Given the description of an element on the screen output the (x, y) to click on. 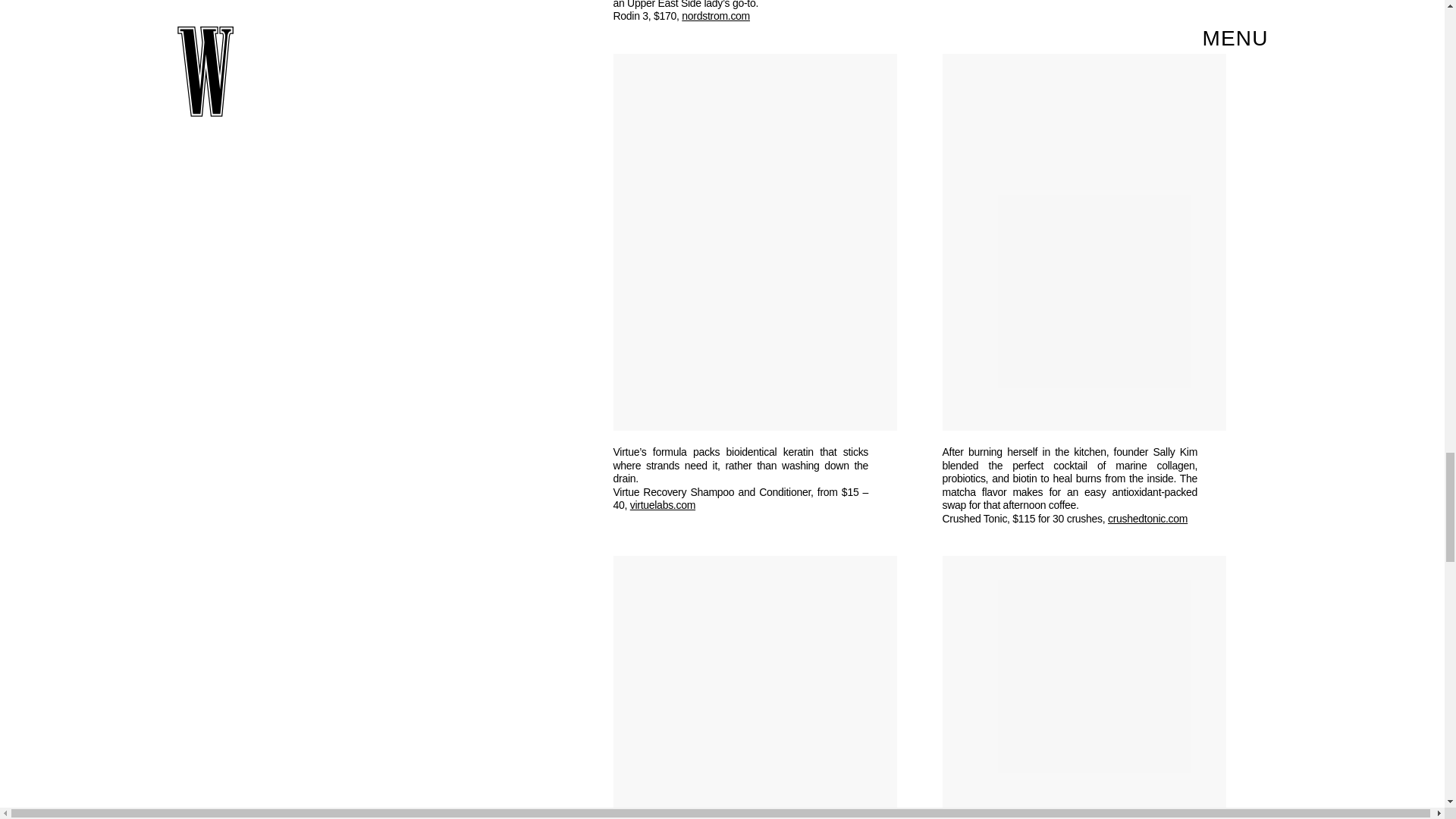
nordstrom.com (715, 15)
virtuelabs.com (662, 504)
crushedtonic.com (1148, 518)
